Given the description of an element on the screen output the (x, y) to click on. 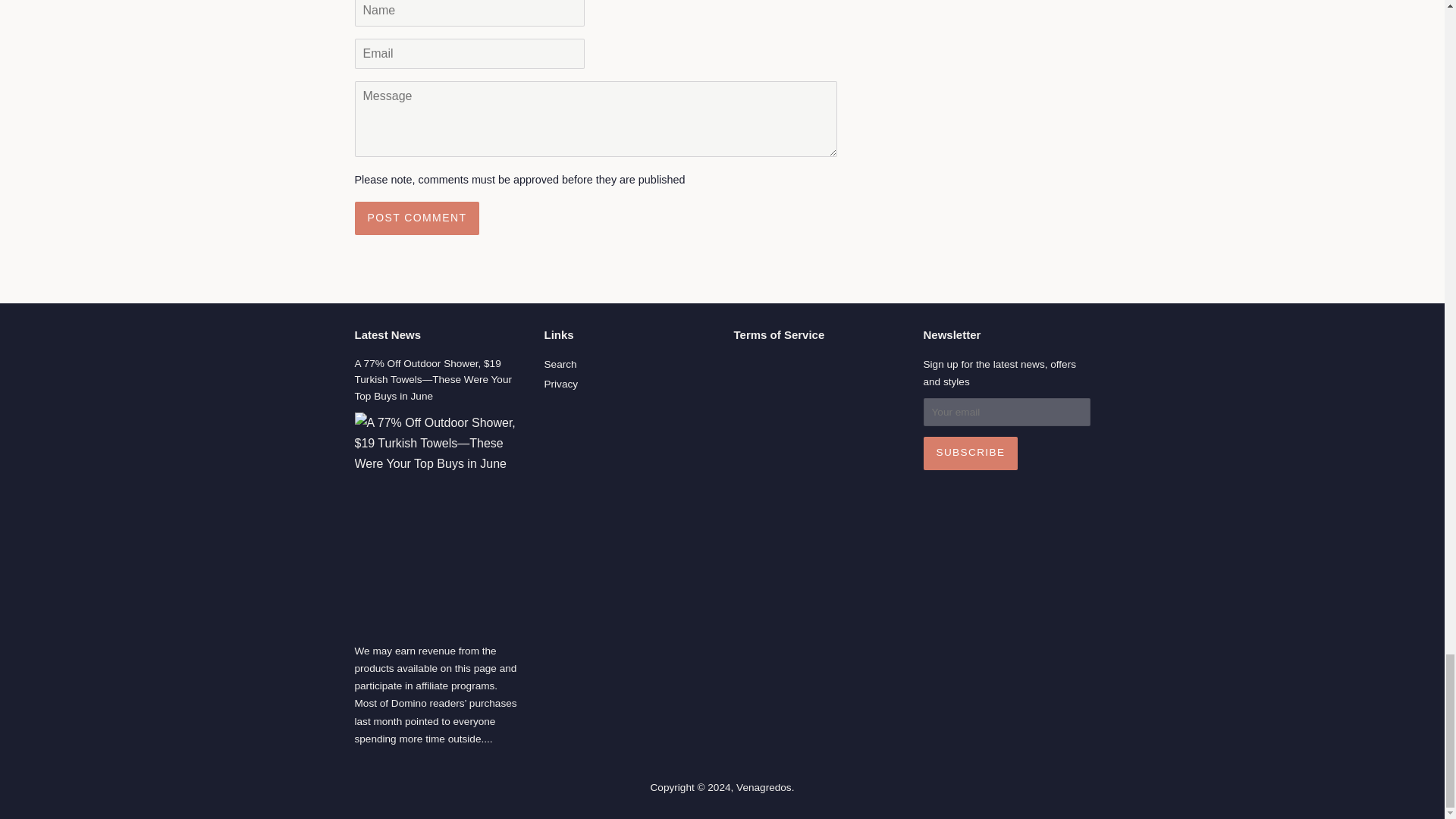
Subscribe (970, 453)
Post comment (417, 218)
